Given the description of an element on the screen output the (x, y) to click on. 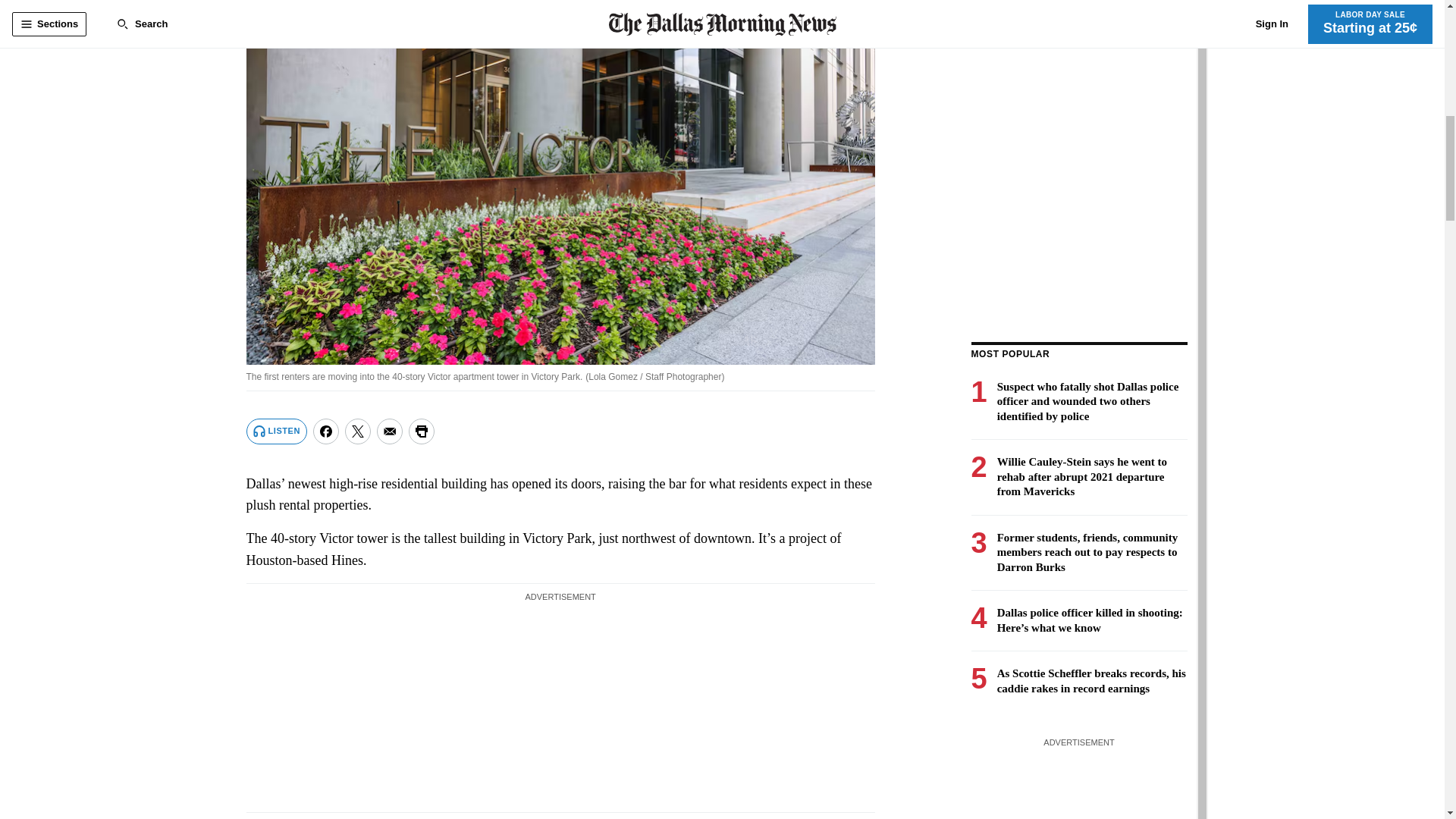
Share on Facebook (326, 431)
Print (421, 431)
Share via Email (390, 431)
Share on Twitter (358, 431)
